Given the description of an element on the screen output the (x, y) to click on. 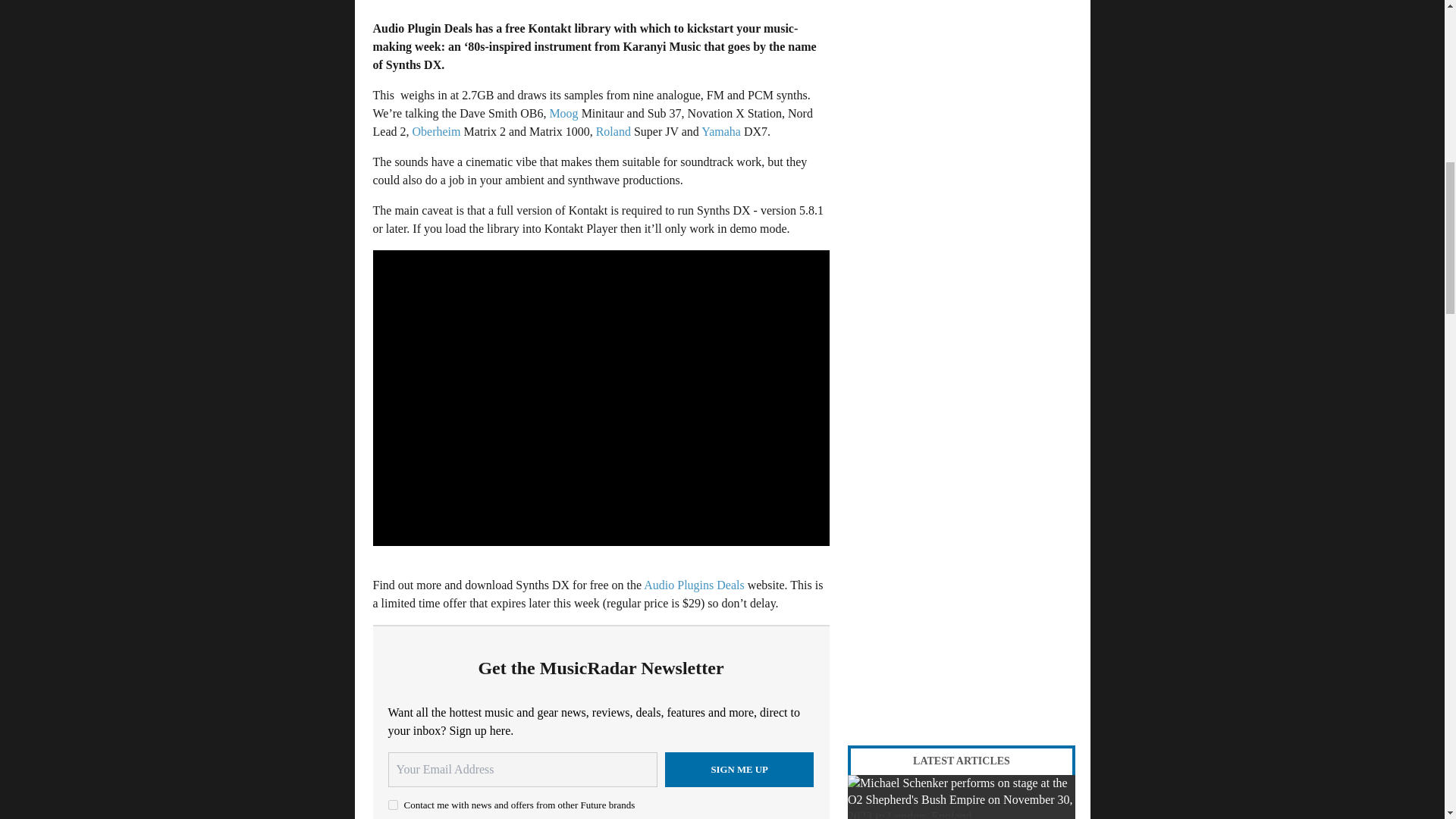
Sign me up (739, 769)
on (392, 804)
